Given the description of an element on the screen output the (x, y) to click on. 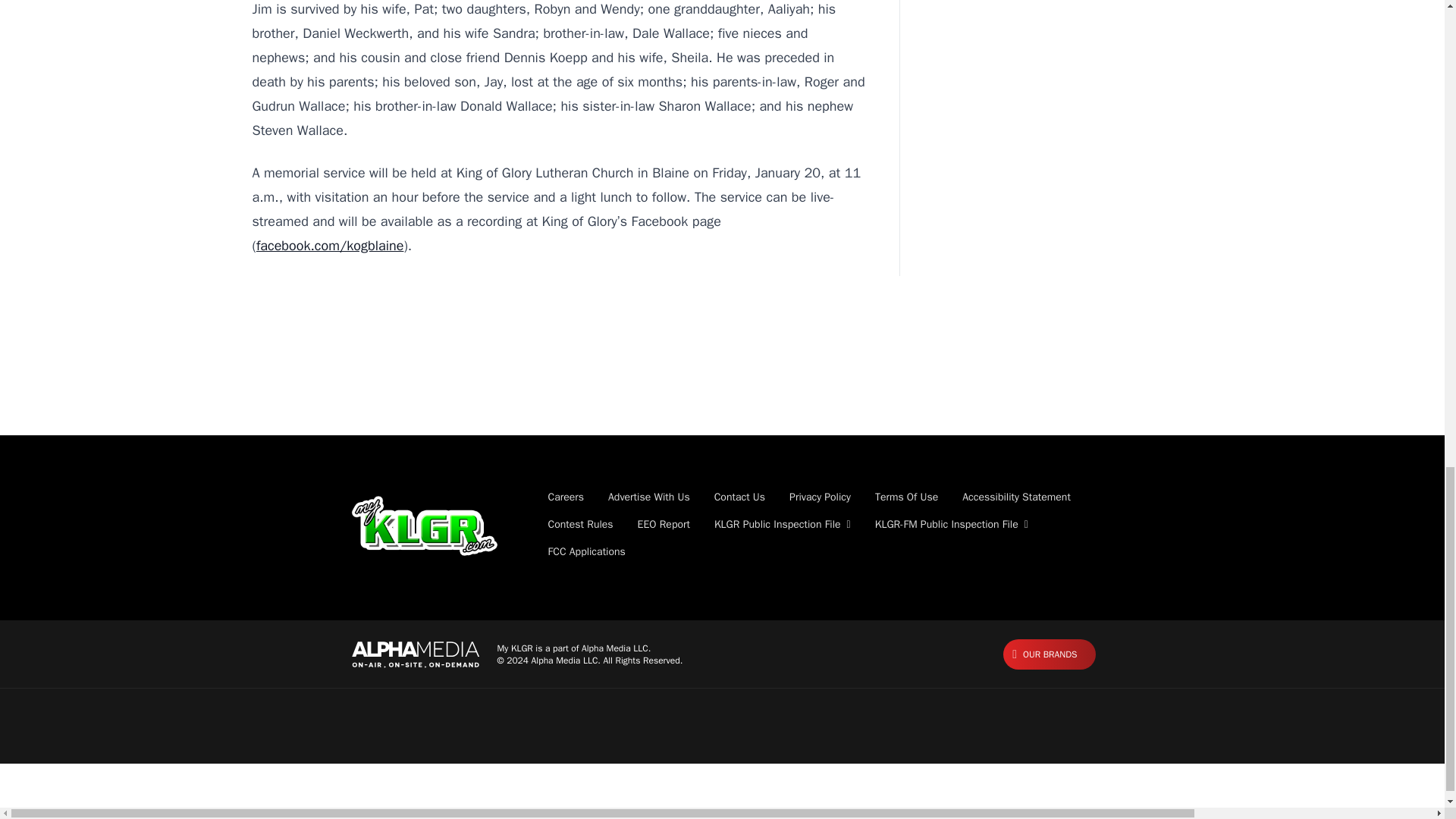
3rd party ad content (721, 386)
